Given the description of an element on the screen output the (x, y) to click on. 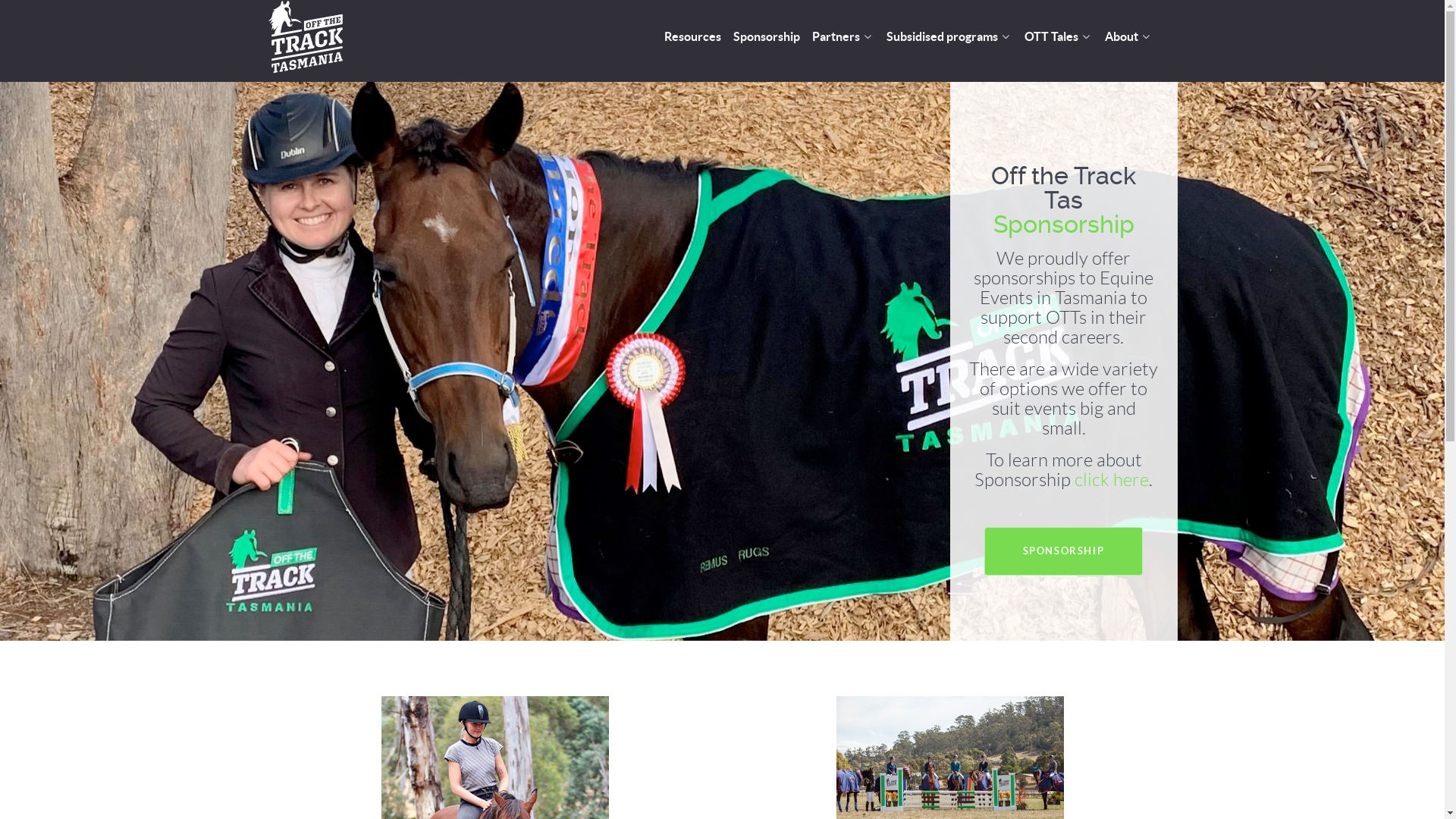
Partners Element type: text (842, 37)
click here Element type: text (1111, 479)
SPONSORSHIP Element type: text (1063, 551)
Resources Element type: text (692, 37)
Sponsorship Element type: text (765, 37)
OTT Tales Element type: text (1057, 37)
